Given the description of an element on the screen output the (x, y) to click on. 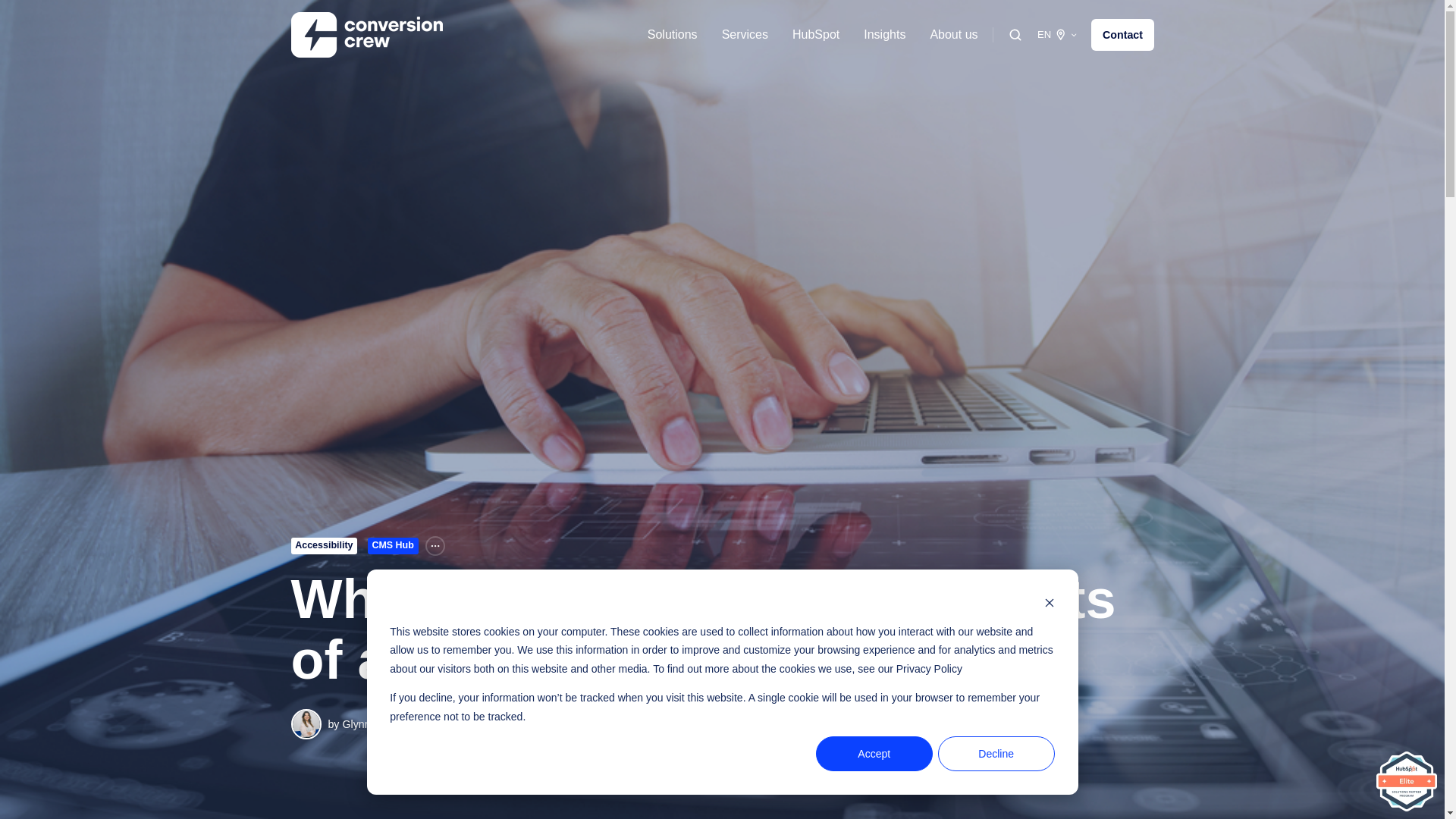
Services (745, 34)
Solutions (672, 34)
Insights (884, 34)
About us (953, 34)
HubSpot (816, 34)
